Given the description of an element on the screen output the (x, y) to click on. 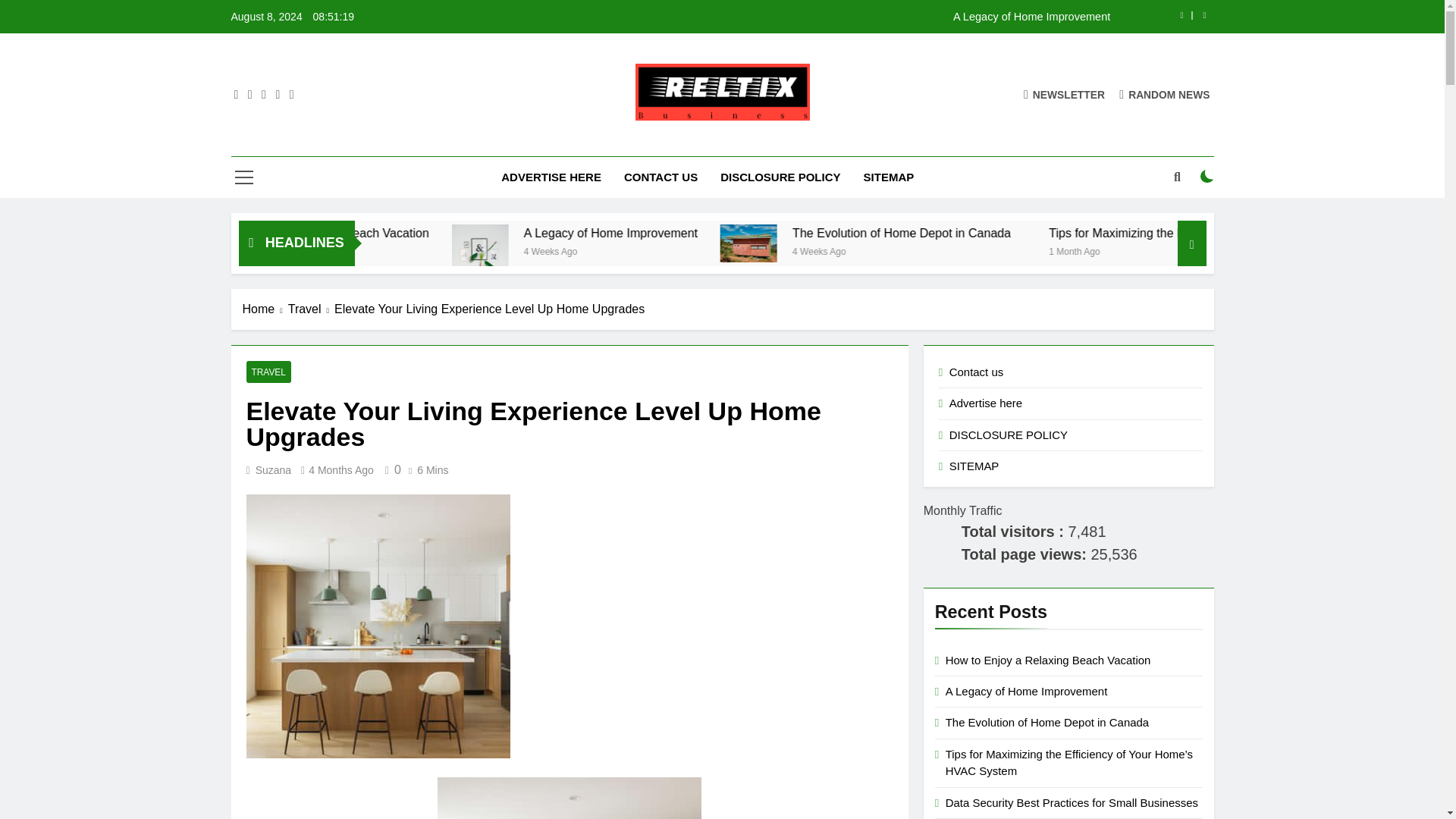
1 Week Ago (394, 250)
The Evolution of Home Depot in Canada (1049, 233)
A Legacy of Home Improvement (817, 16)
on (1206, 176)
DISCLOSURE POLICY (780, 177)
Reltix (523, 142)
How to Enjoy a Relaxing Beach Vacation (447, 233)
A Legacy of Home Improvement (817, 16)
RANDOM NEWS (1164, 93)
4 Weeks Ago (967, 250)
SITEMAP (888, 177)
4 Weeks Ago (705, 250)
A Legacy of Home Improvement (731, 233)
CONTACT US (660, 177)
How to Enjoy a Relaxing Beach Vacation (481, 233)
